Given the description of an element on the screen output the (x, y) to click on. 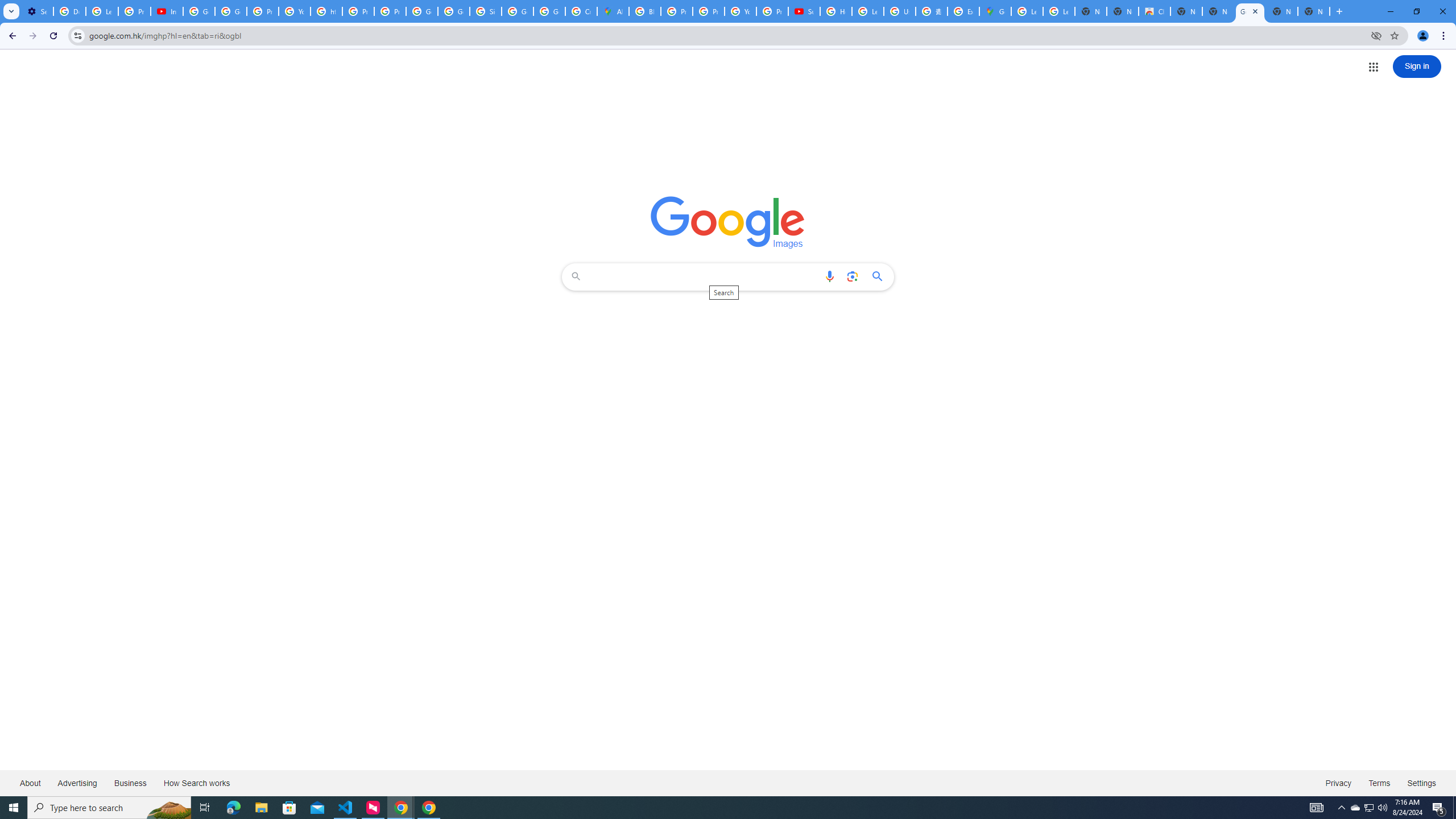
https://scholar.google.com/ (326, 11)
Privacy (1337, 782)
Chrome Web Store (1154, 11)
YouTube (740, 11)
Privacy Help Center - Policies Help (676, 11)
Search (703, 276)
How Chrome protects your passwords - Google Chrome Help (836, 11)
